Given the description of an element on the screen output the (x, y) to click on. 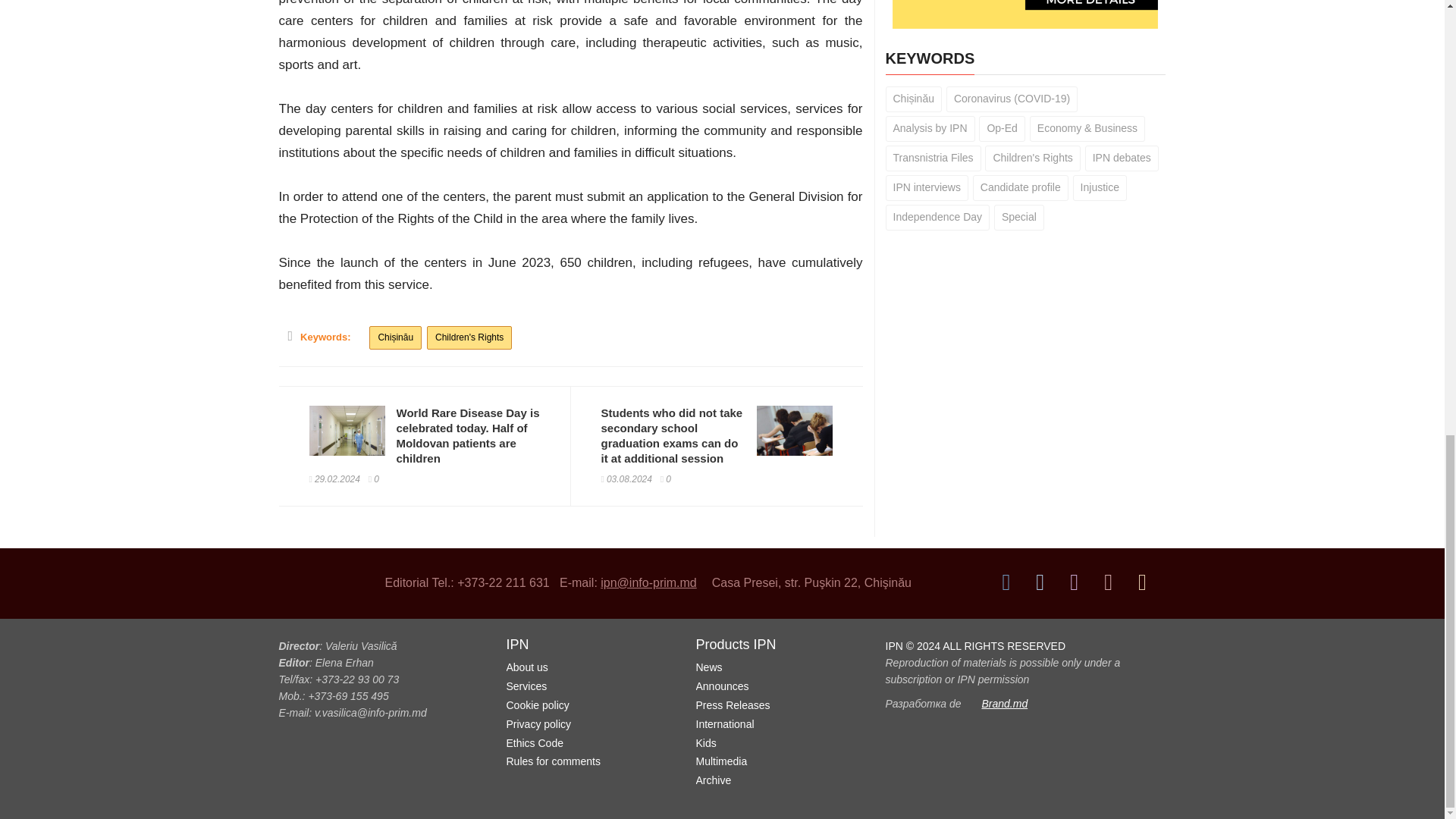
instagram (1074, 582)
twitter (1040, 582)
